Given the description of an element on the screen output the (x, y) to click on. 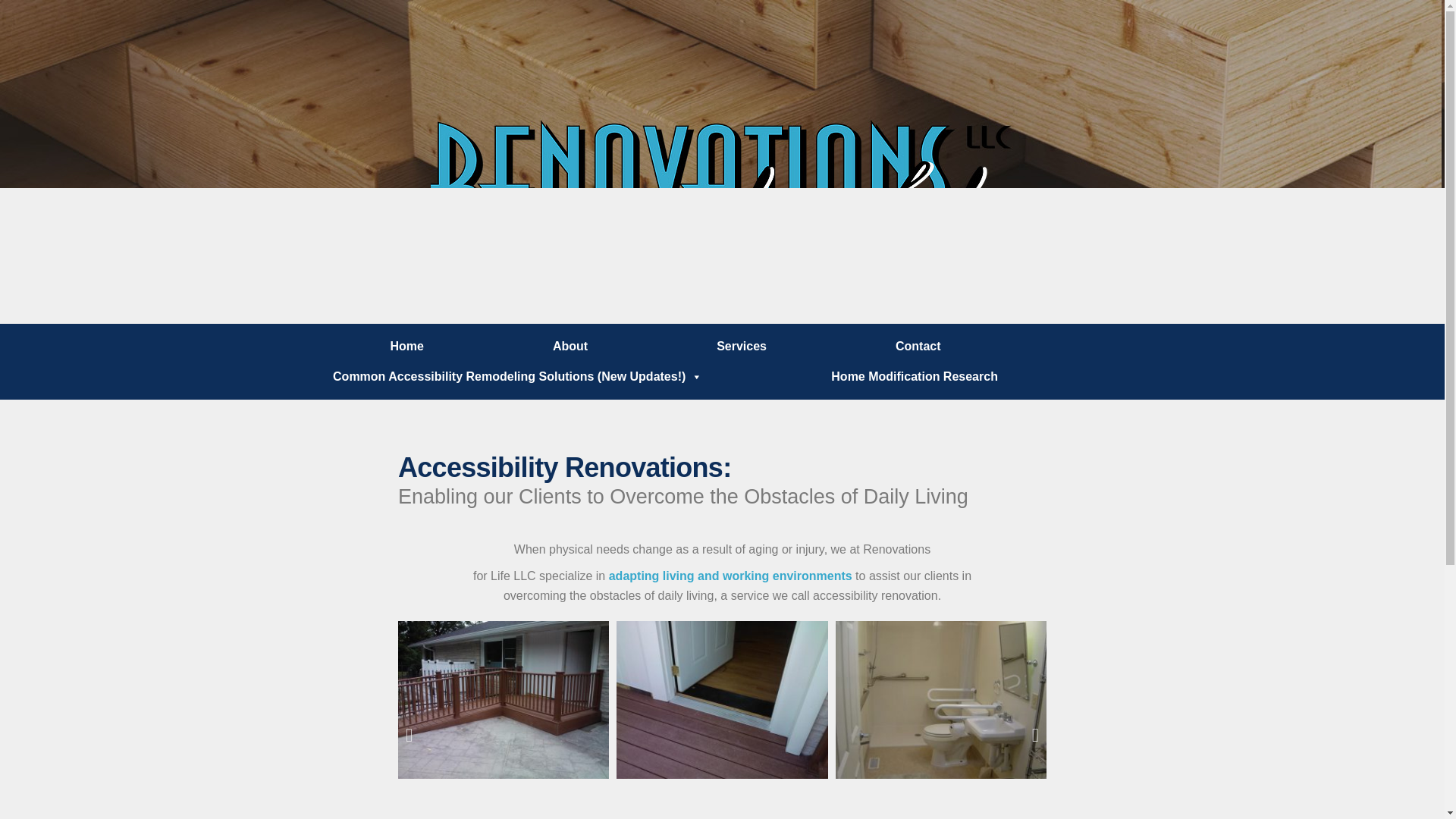
About (569, 346)
Home (405, 346)
Home Modification Research (915, 376)
Services (741, 346)
Contact (918, 346)
